Given the description of an element on the screen output the (x, y) to click on. 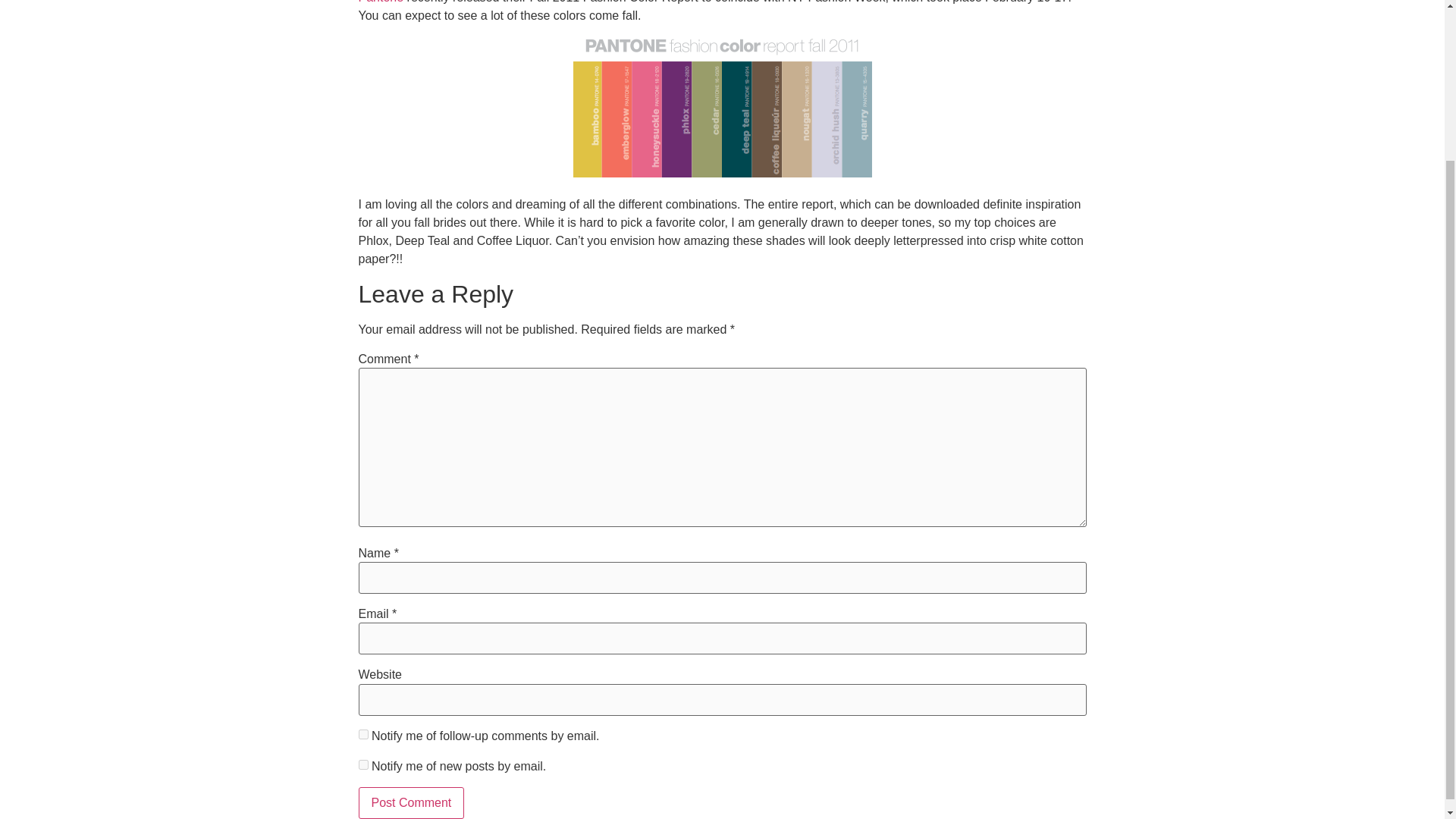
Pantone (380, 2)
subscribe (363, 734)
subscribe (363, 764)
Screen shot 2011-02-21 at 10.17.09 AM (722, 106)
